Given the description of an element on the screen output the (x, y) to click on. 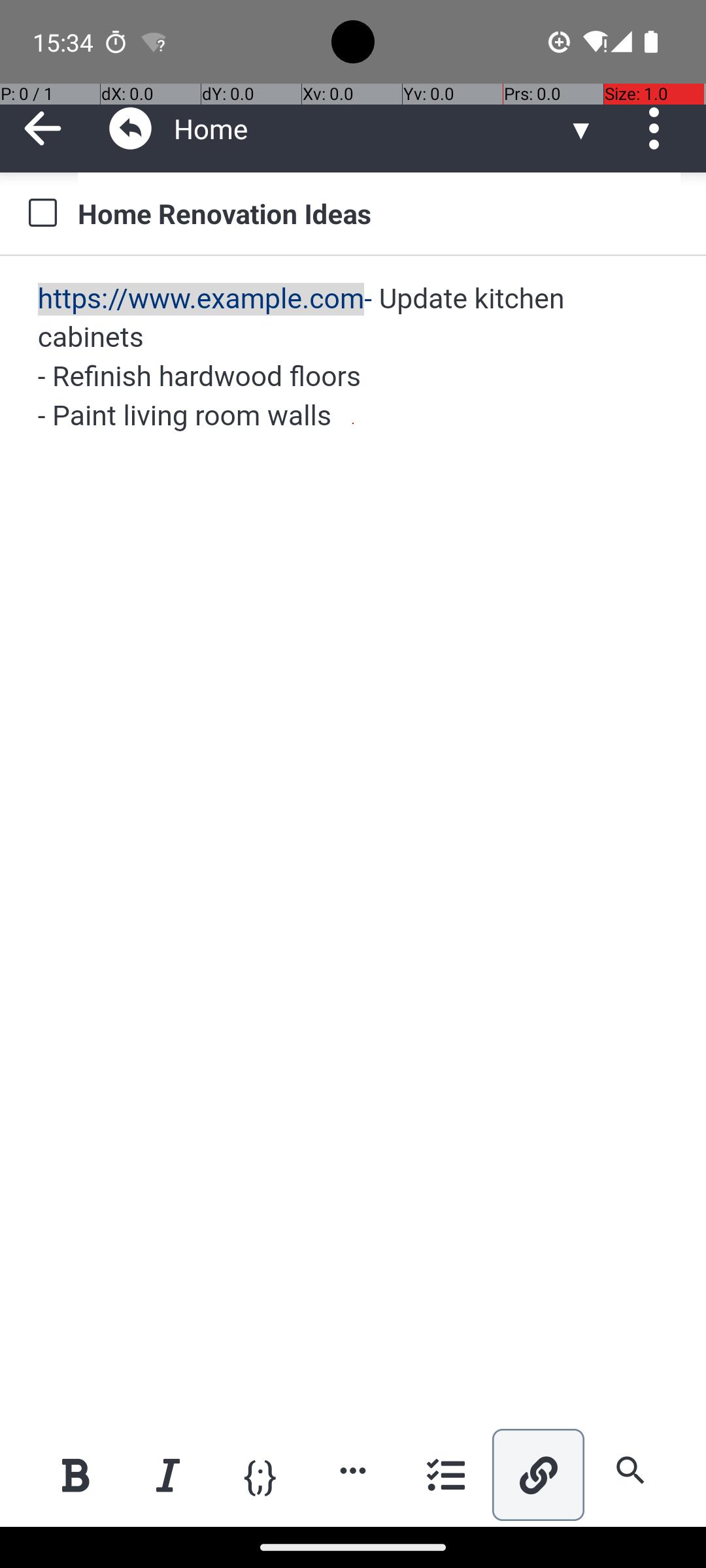
Home Renovation Ideas Element type: android.widget.EditText (378, 213)
https://www.example.com- Update kitchen cabinets 
- Refinish hardwood floors 
- Paint living room walls Element type: android.widget.EditText (354, 357)
